Given the description of an element on the screen output the (x, y) to click on. 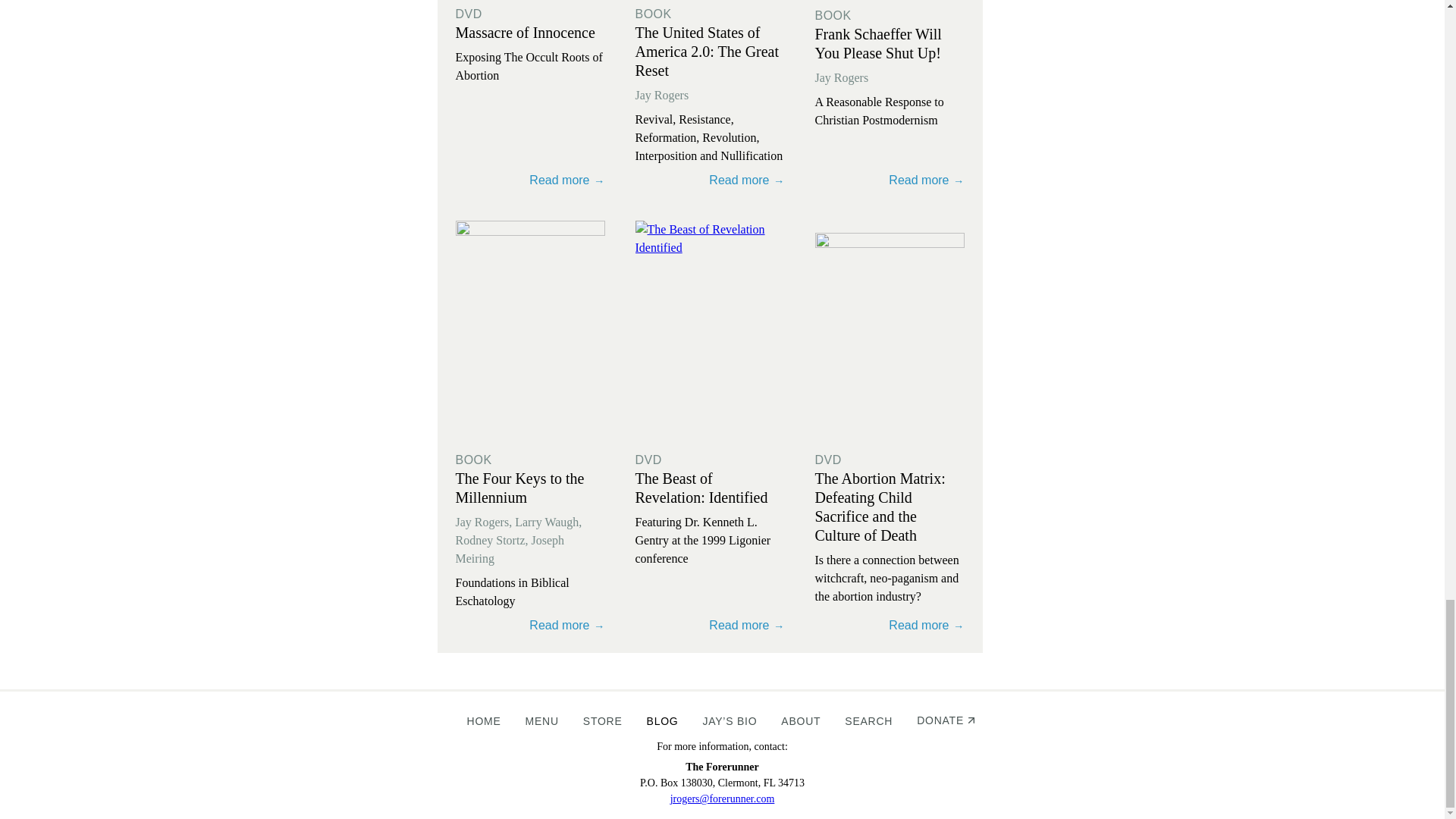
Read more (888, 622)
Massacre of Innocence (524, 32)
The Four Keys to the Millennium (518, 488)
The United States of America 2.0: The Great Reset (706, 51)
Read more (709, 332)
Read more (709, 622)
Read more (529, 177)
Frank Schaeffer Will You Please Shut Up! (876, 43)
The Beast of Revelation: Identified (701, 488)
Read more (888, 177)
Read more (529, 332)
Read more (888, 177)
Read more (529, 177)
Read more (529, 622)
